Given the description of an element on the screen output the (x, y) to click on. 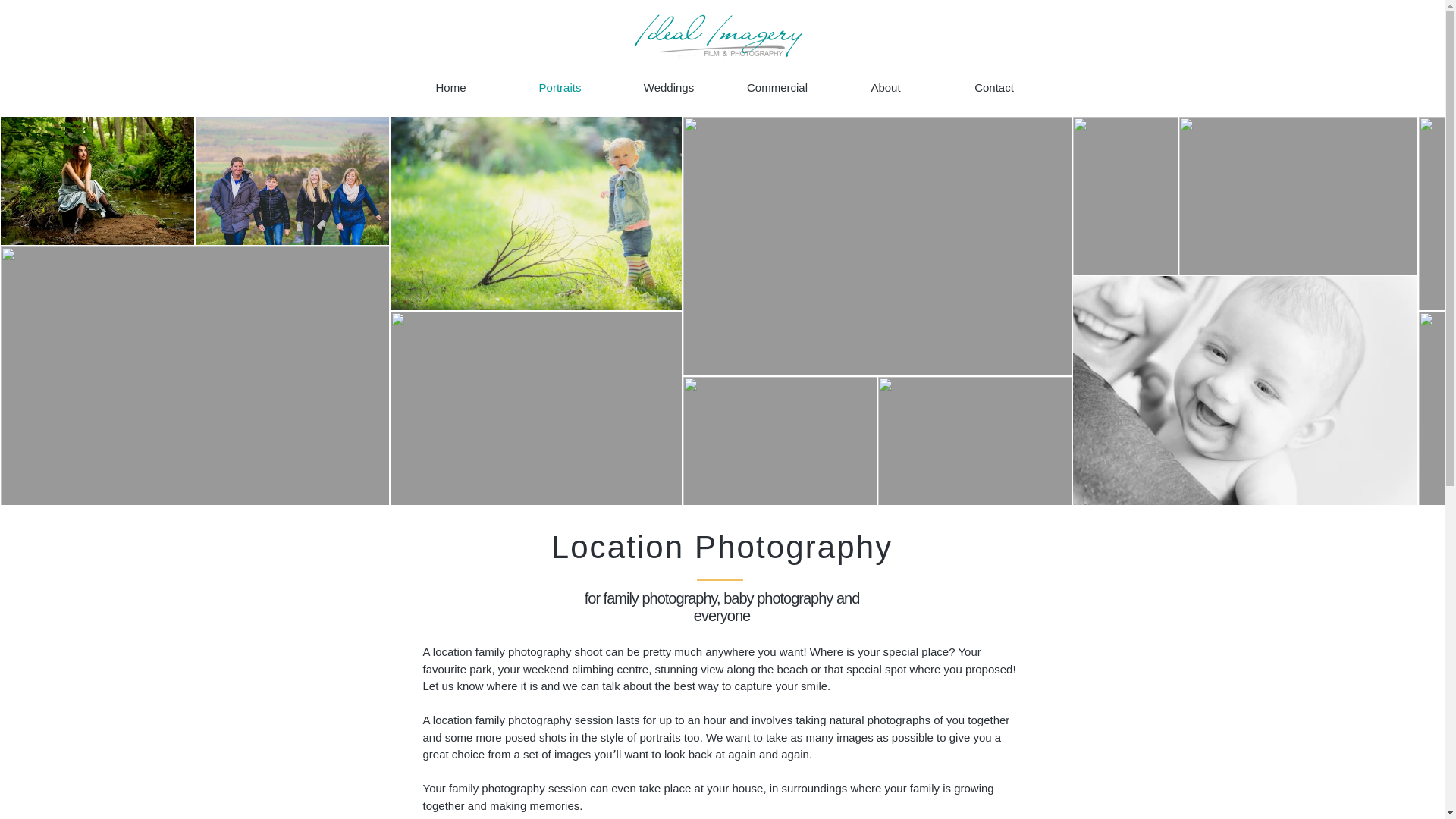
Portraits (559, 87)
Contact (994, 87)
Weddings (668, 87)
Home (450, 87)
Commercial (777, 87)
About (885, 87)
